Given the description of an element on the screen output the (x, y) to click on. 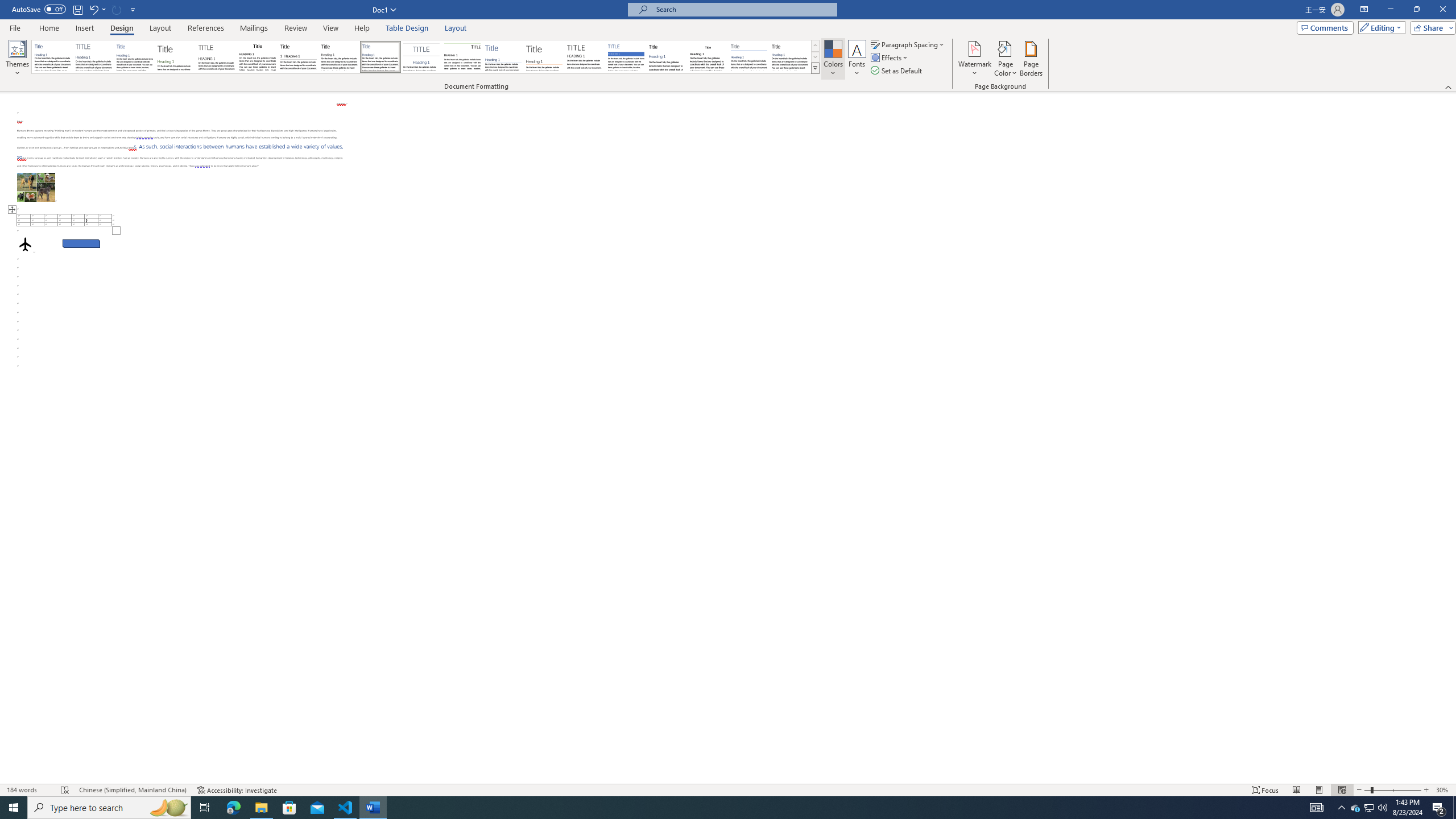
Centered (421, 56)
Paragraph Spacing (908, 44)
Rectangle: Diagonal Corners Snipped 2 (81, 243)
Morphological variation in six dogs (36, 187)
Document (52, 56)
Black & White (Numbered) (298, 56)
Table Design (407, 28)
Language Chinese (Simplified, Mainland China) (132, 790)
